Given the description of an element on the screen output the (x, y) to click on. 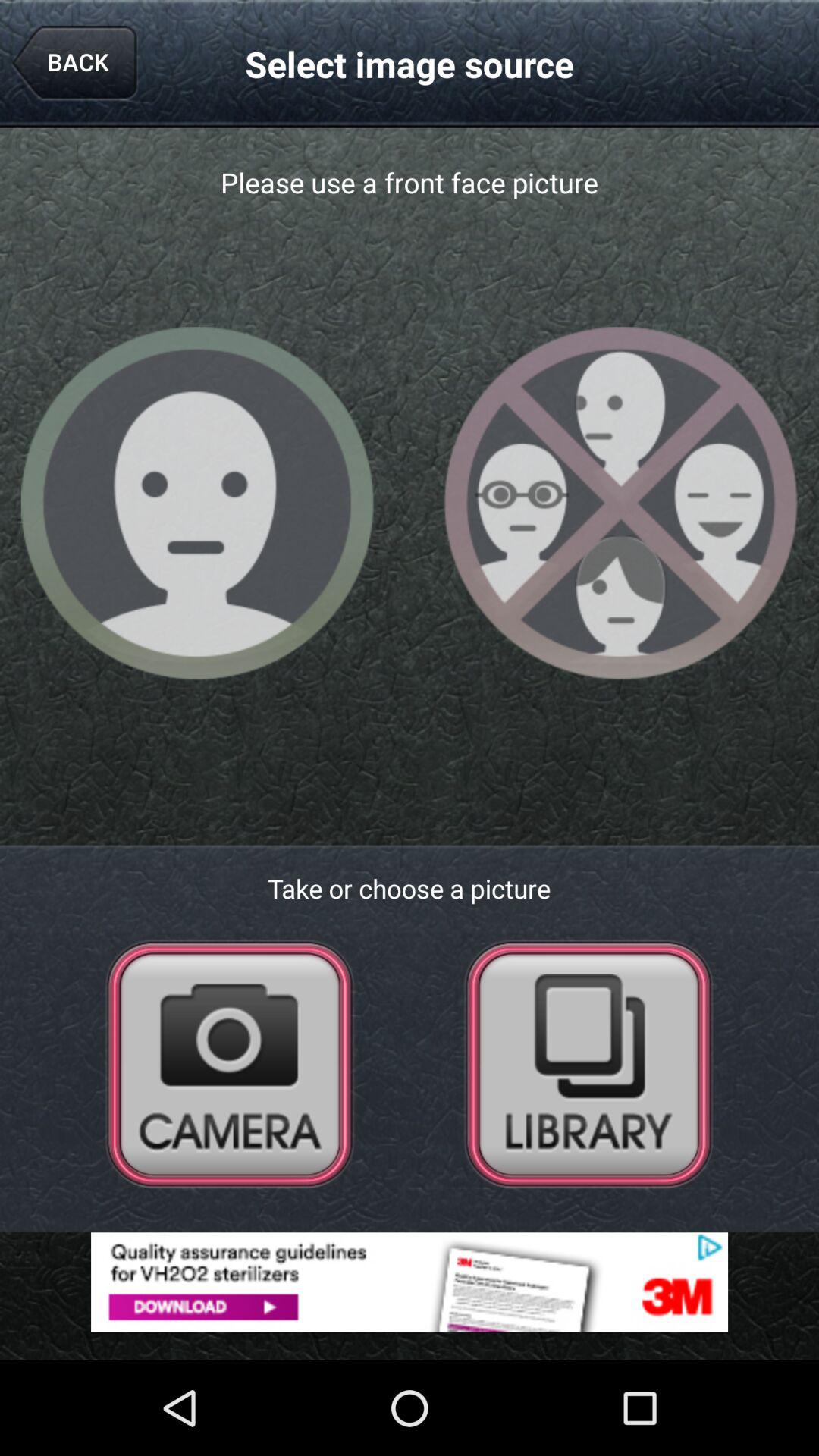
choose the picture (588, 1063)
